Given the description of an element on the screen output the (x, y) to click on. 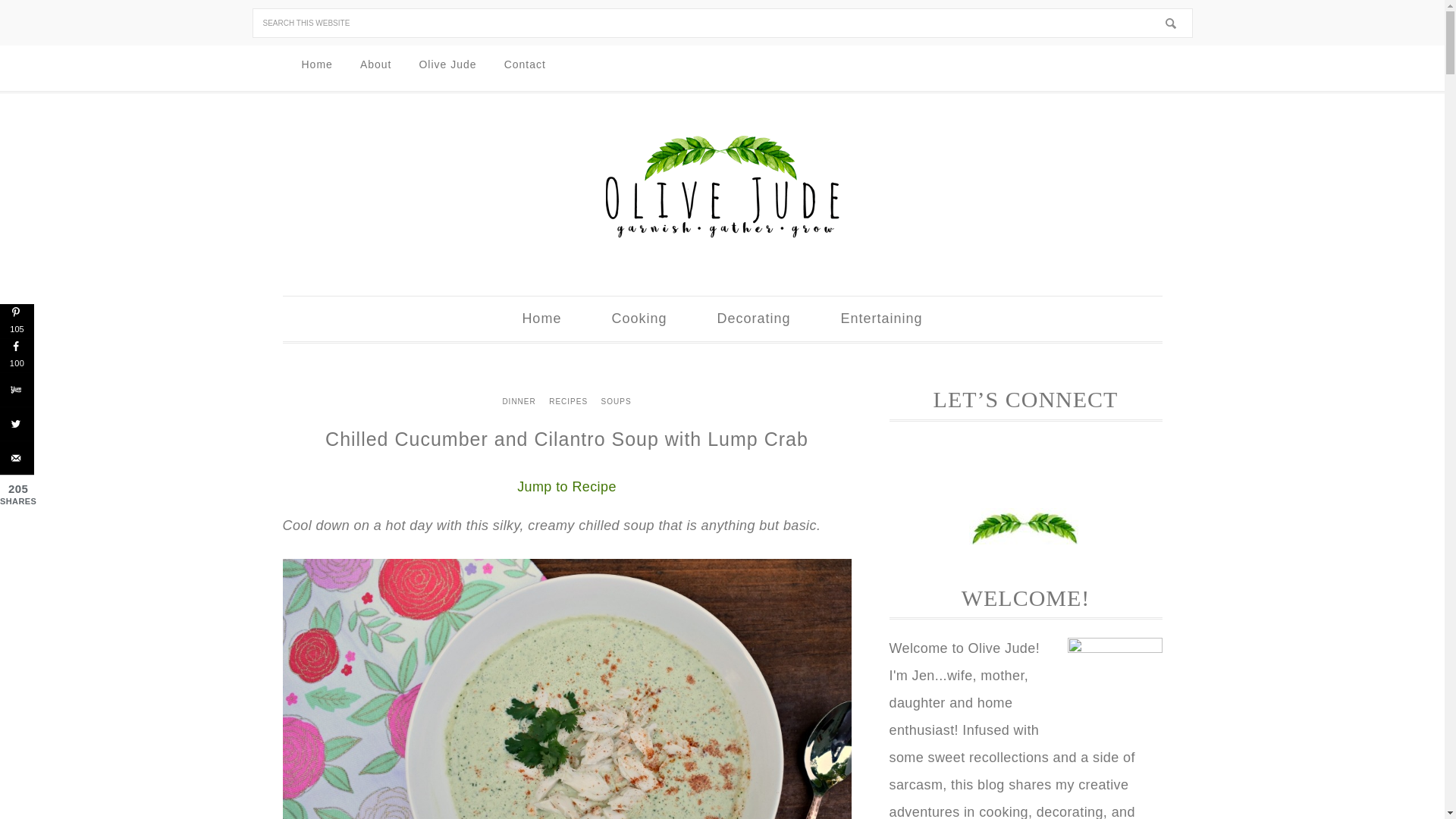
Decorating (753, 318)
OLIVE JUDE (721, 186)
Entertaining (881, 318)
Share on Yummly (16, 389)
Home (541, 318)
SOUPS (616, 401)
RECIPES (567, 401)
Share on Facebook (16, 355)
Cooking (638, 318)
Save to Pinterest (16, 320)
Jump to Recipe (566, 486)
Olive Jude (447, 64)
